Given the description of an element on the screen output the (x, y) to click on. 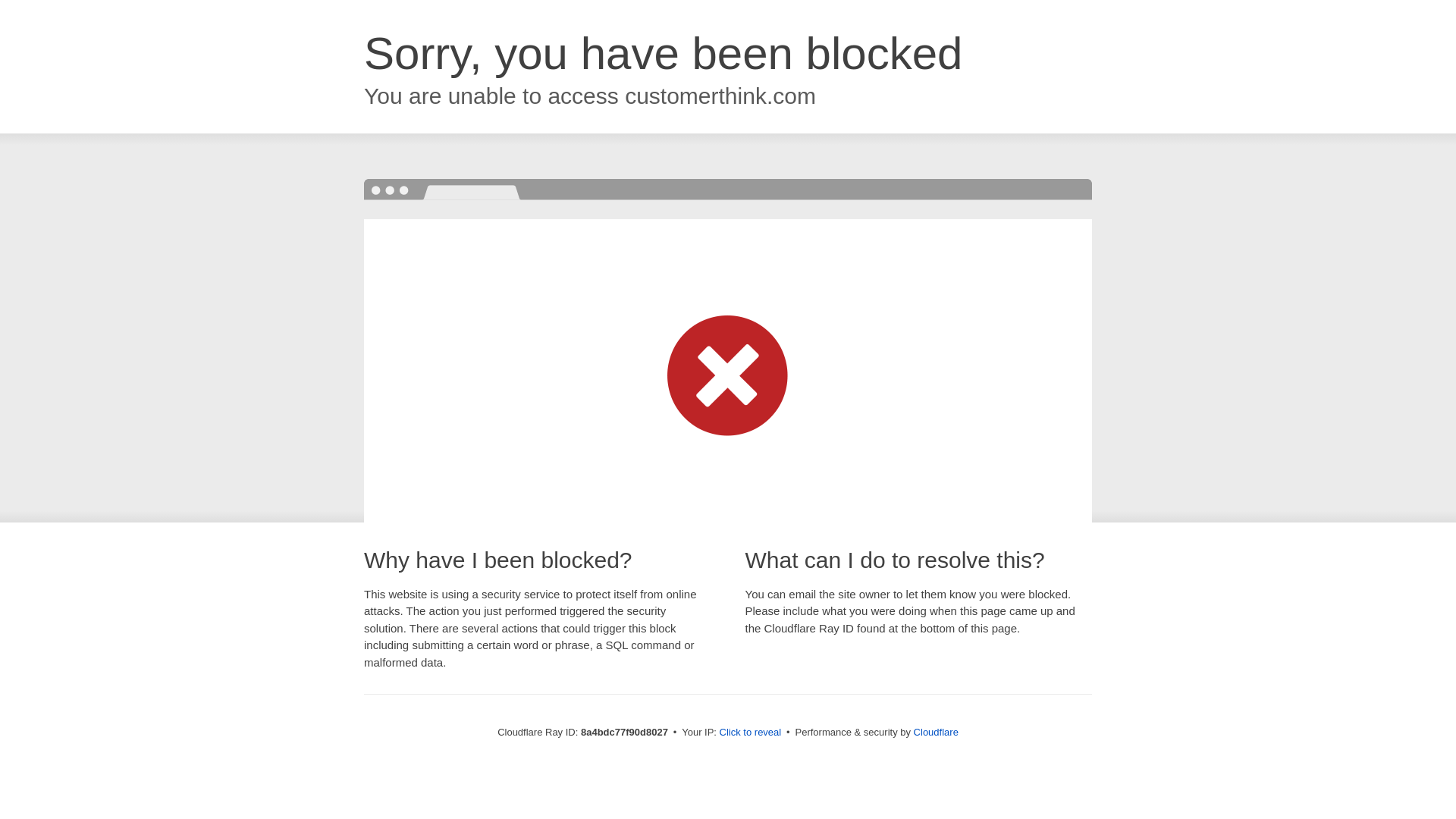
Click to reveal (750, 732)
Cloudflare (936, 731)
